Given the description of an element on the screen output the (x, y) to click on. 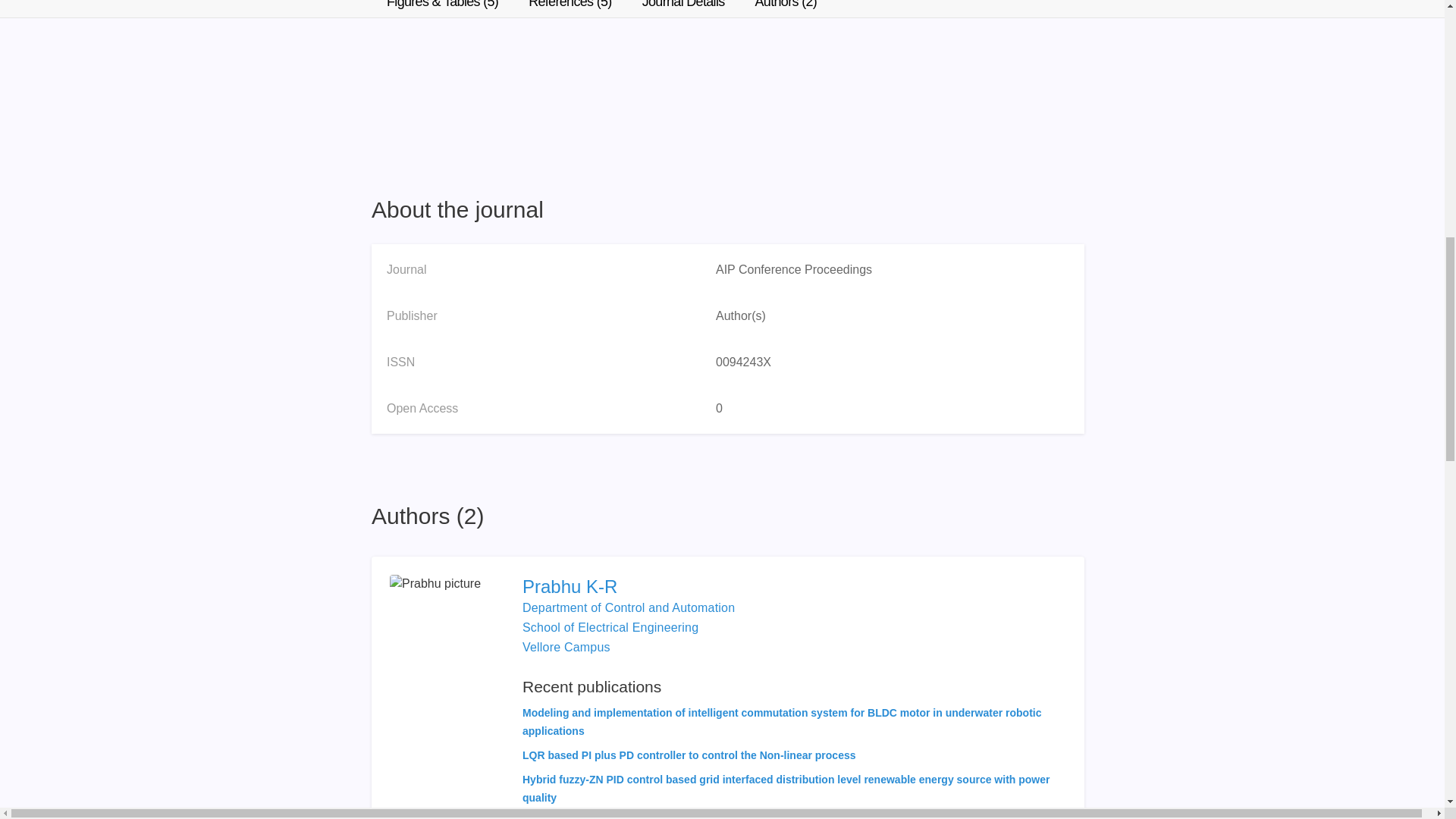
Prabhu K-R (793, 586)
Journal Details (683, 8)
School of Electrical Engineering (610, 626)
Department of Control and Automation (628, 607)
Vellore Campus (566, 646)
